Given the description of an element on the screen output the (x, y) to click on. 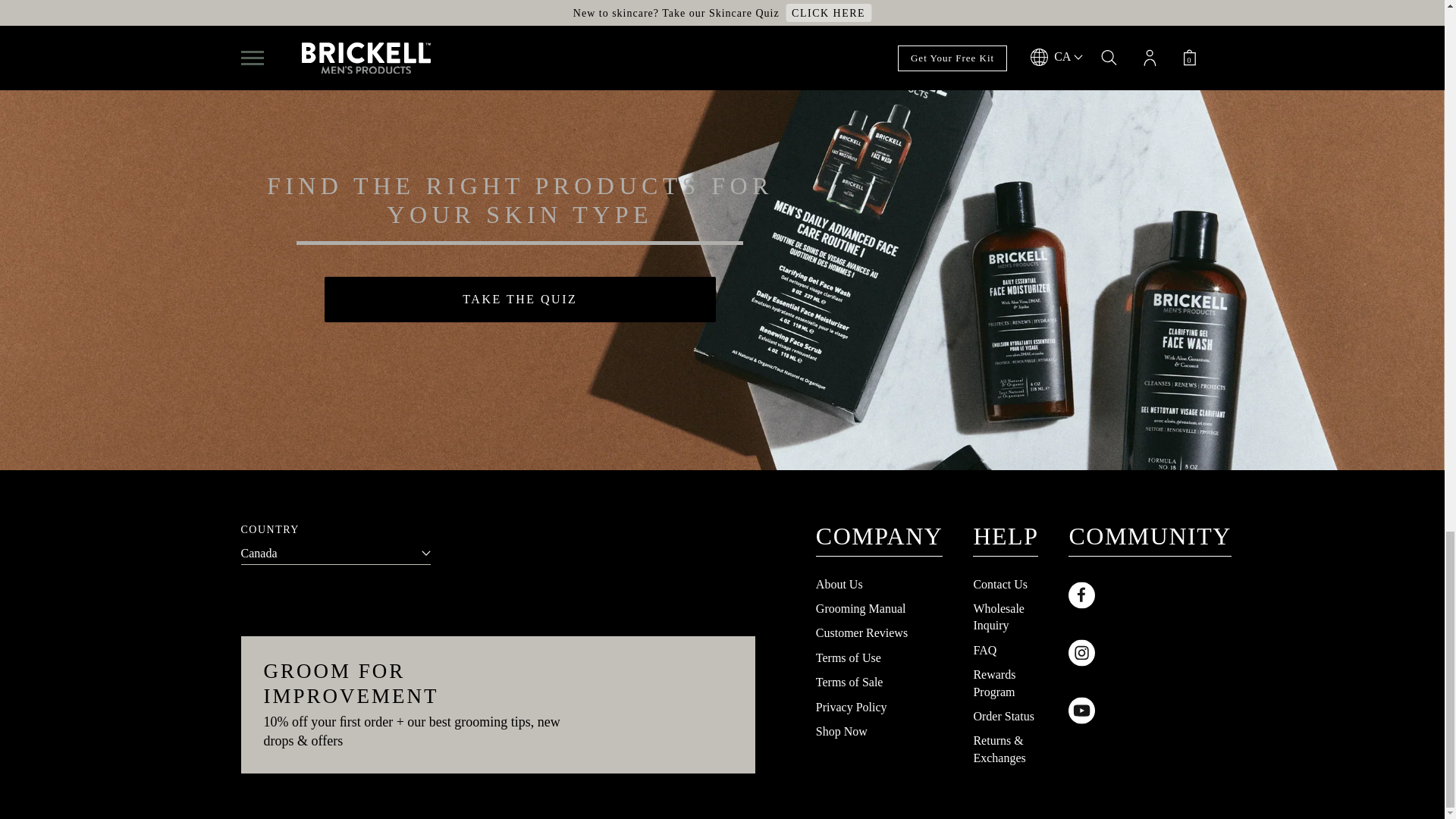
Follow us on Youtube (1149, 710)
Follow us on Facebook (1149, 595)
Follow us on Instagram (1149, 652)
